Given the description of an element on the screen output the (x, y) to click on. 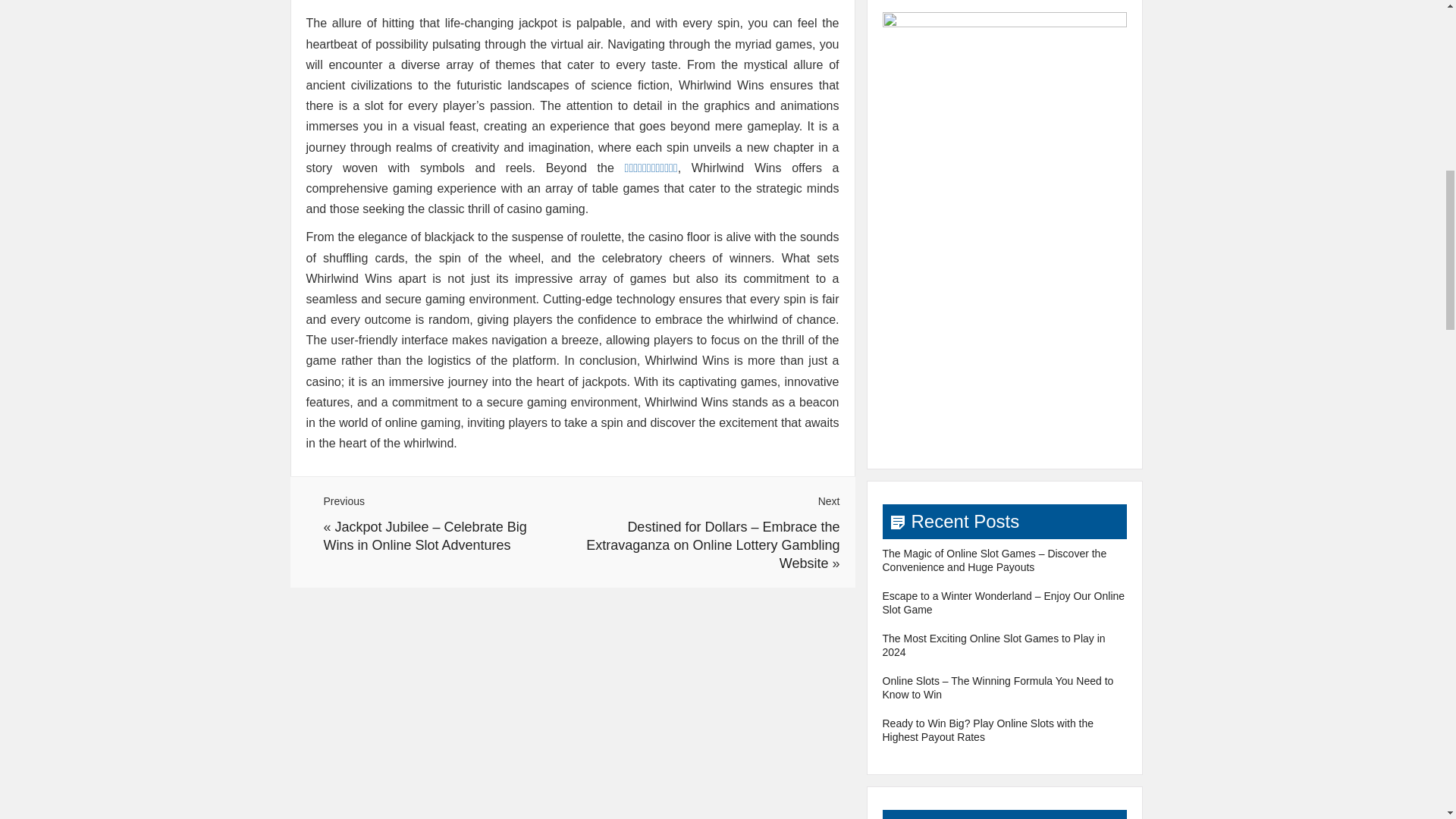
The Most Exciting Online Slot Games to Play in 2024 (993, 645)
